Given the description of an element on the screen output the (x, y) to click on. 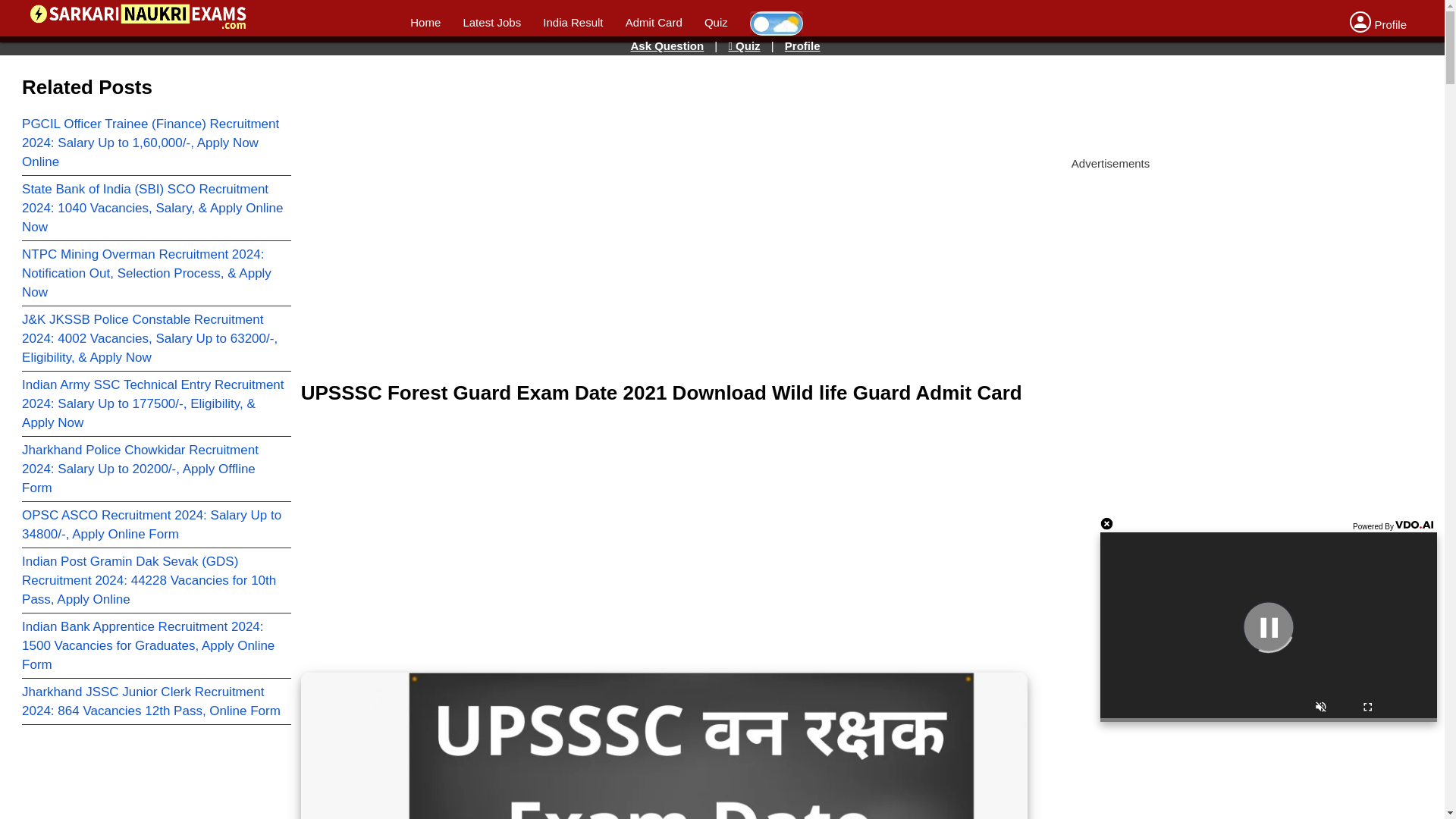
Profile (1377, 24)
Unmute (1321, 708)
Advertisement (644, 101)
Home (425, 21)
Unmute (1321, 708)
Pause (1267, 626)
Latest Jobs (492, 21)
Fullscreen (1367, 708)
Ask Question (667, 45)
Advertisement (663, 235)
India Result (572, 21)
